Given the description of an element on the screen output the (x, y) to click on. 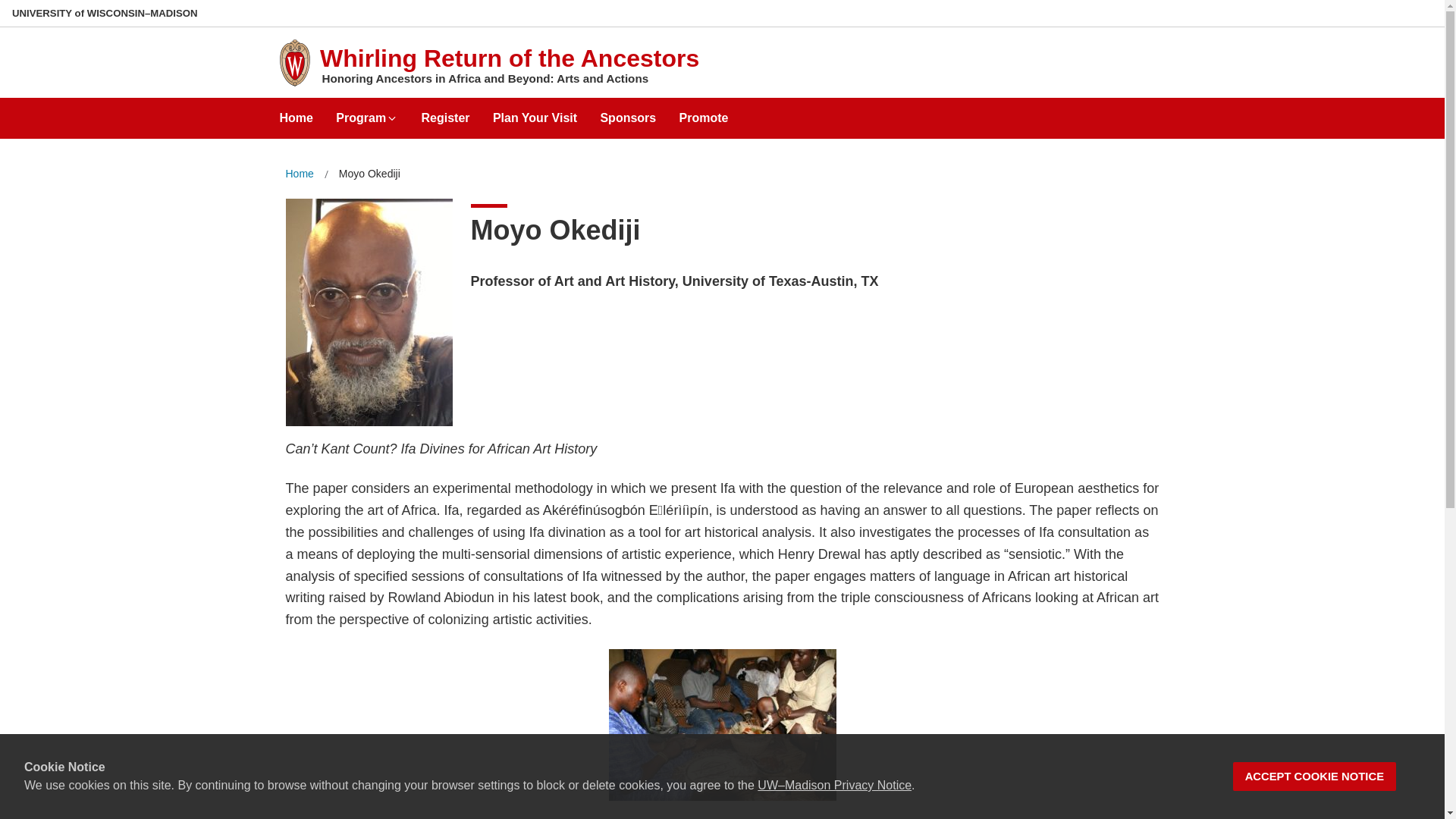
Promote (704, 112)
Plan Your Visit (534, 112)
Register (446, 112)
Skip to main content (3, 3)
Home (299, 173)
Moyo Okediji (369, 173)
Moyo Okediji (369, 173)
Expand (391, 118)
Sponsors (627, 112)
Home (296, 112)
